Given the description of an element on the screen output the (x, y) to click on. 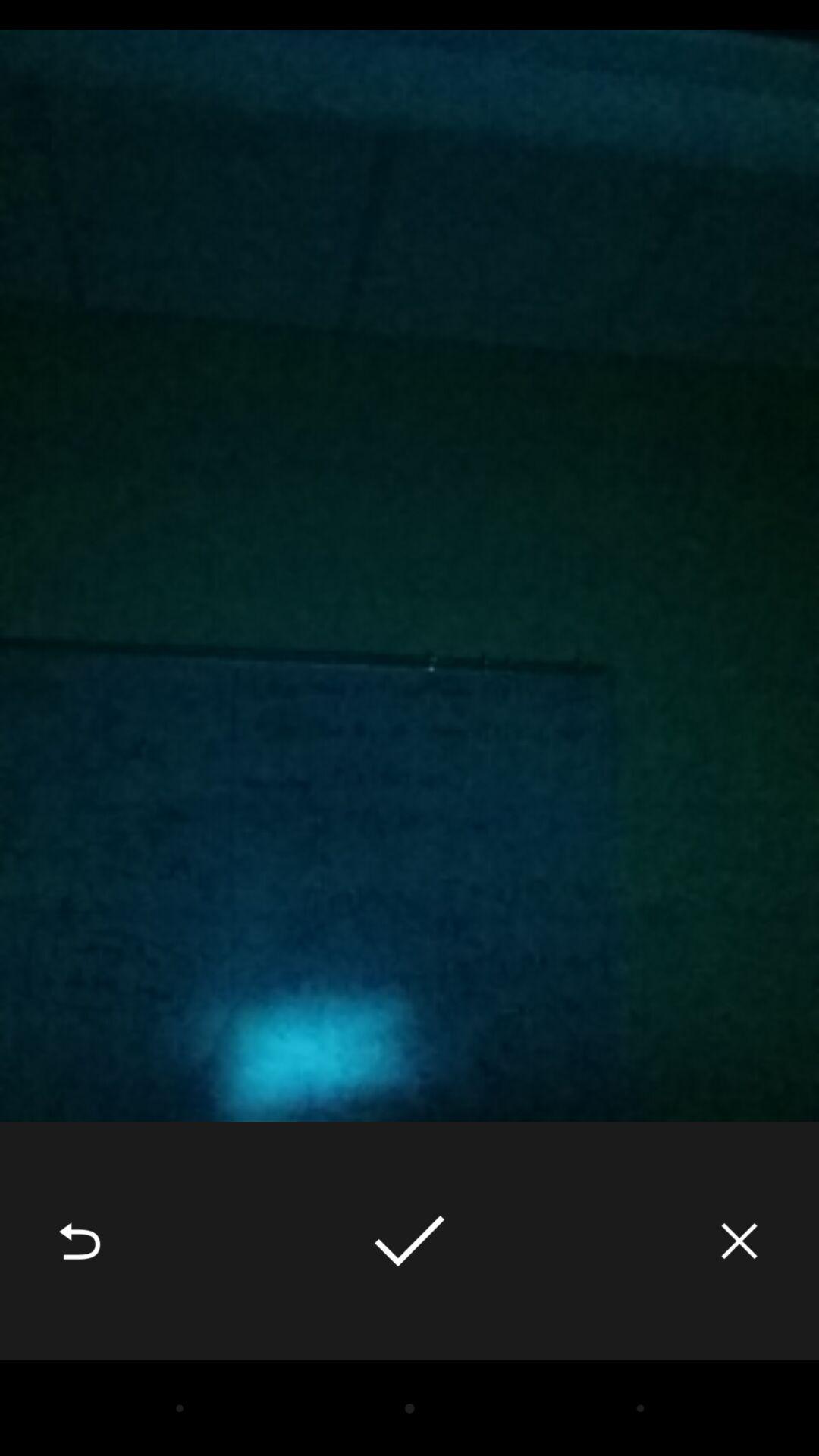
tap item at the bottom left corner (79, 1240)
